Given the description of an element on the screen output the (x, y) to click on. 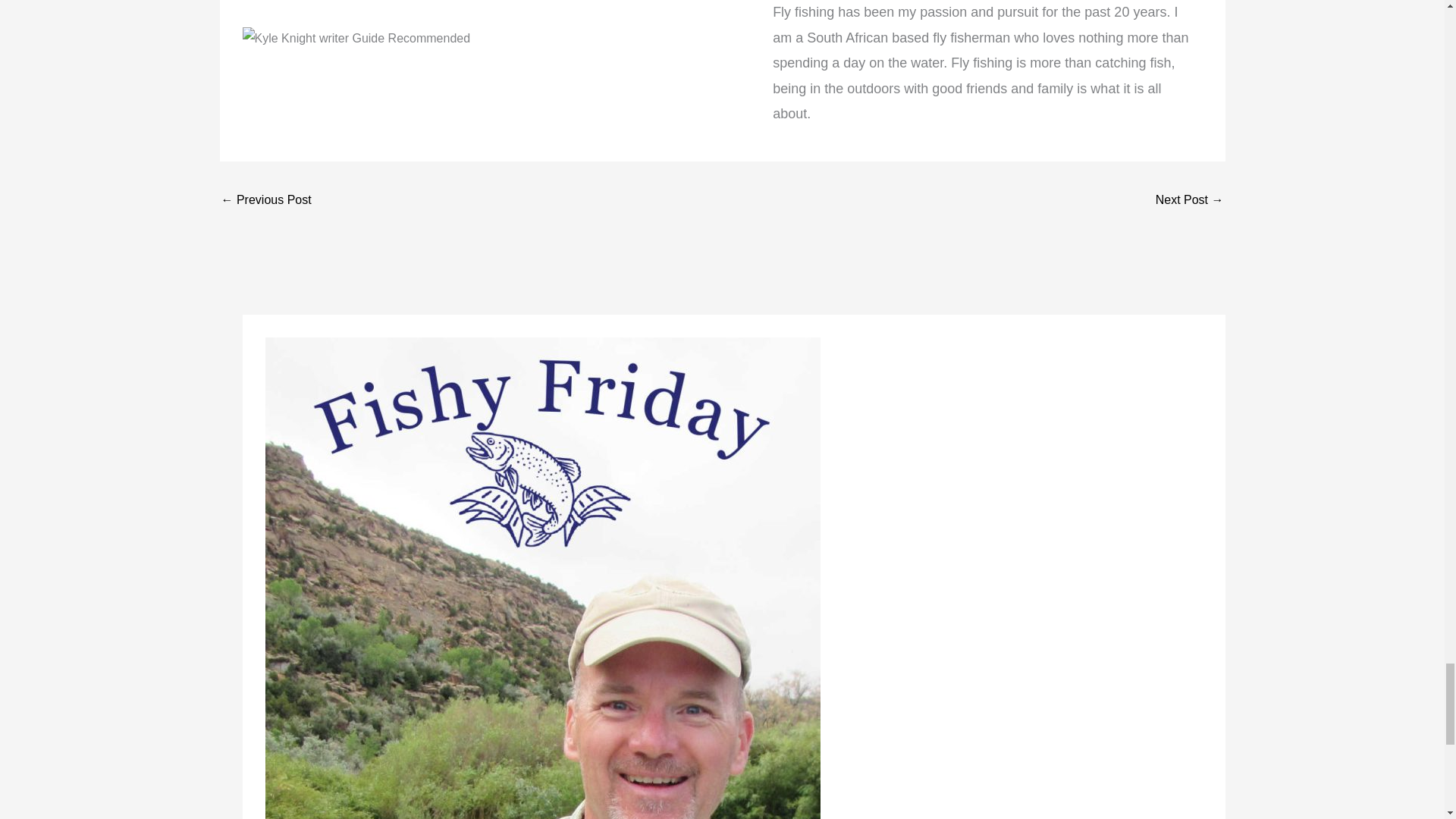
The 7 Best Fly Fishing Gear Online (266, 201)
